Given the description of an element on the screen output the (x, y) to click on. 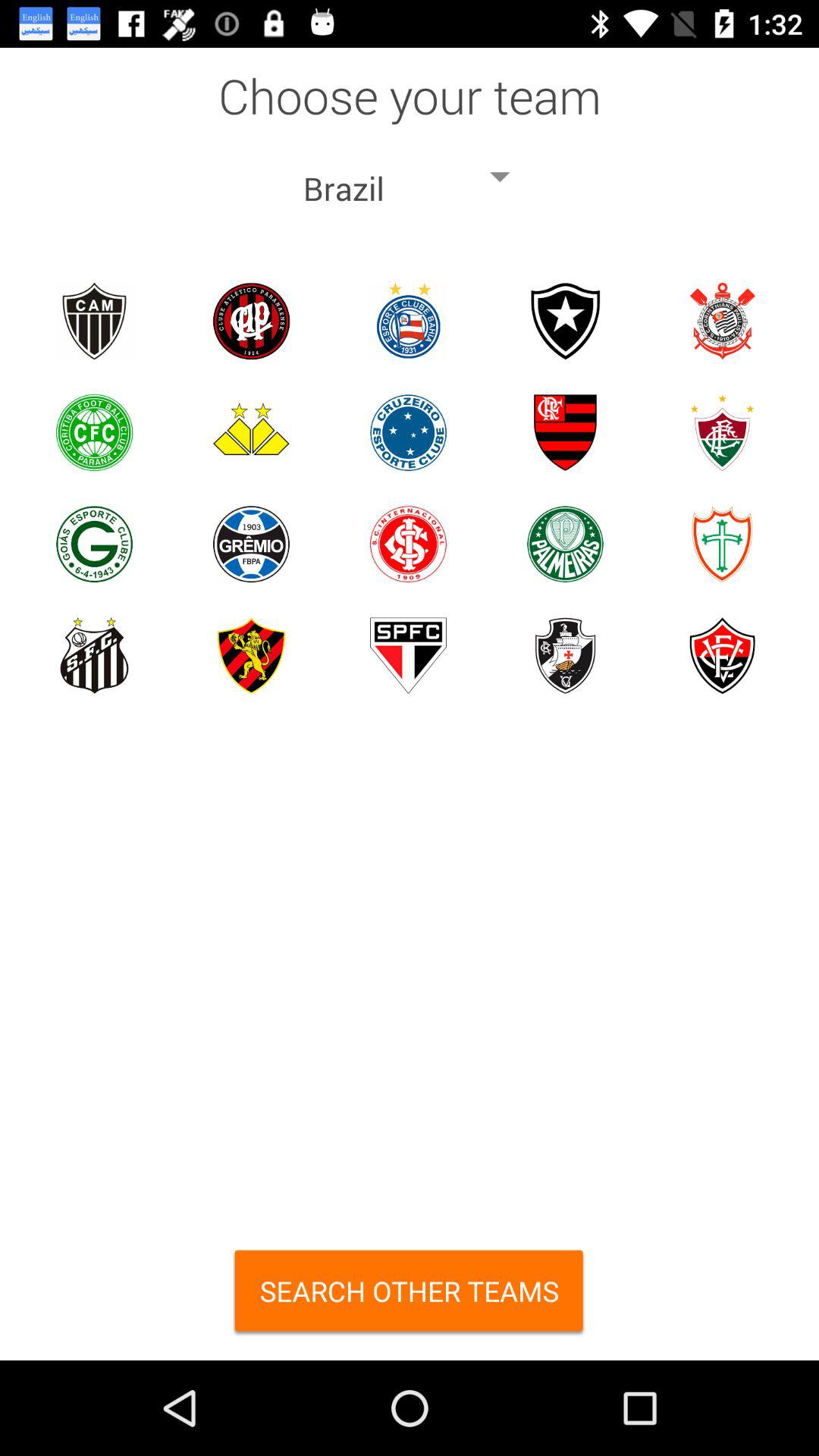
select a specific team (94, 432)
